Given the description of an element on the screen output the (x, y) to click on. 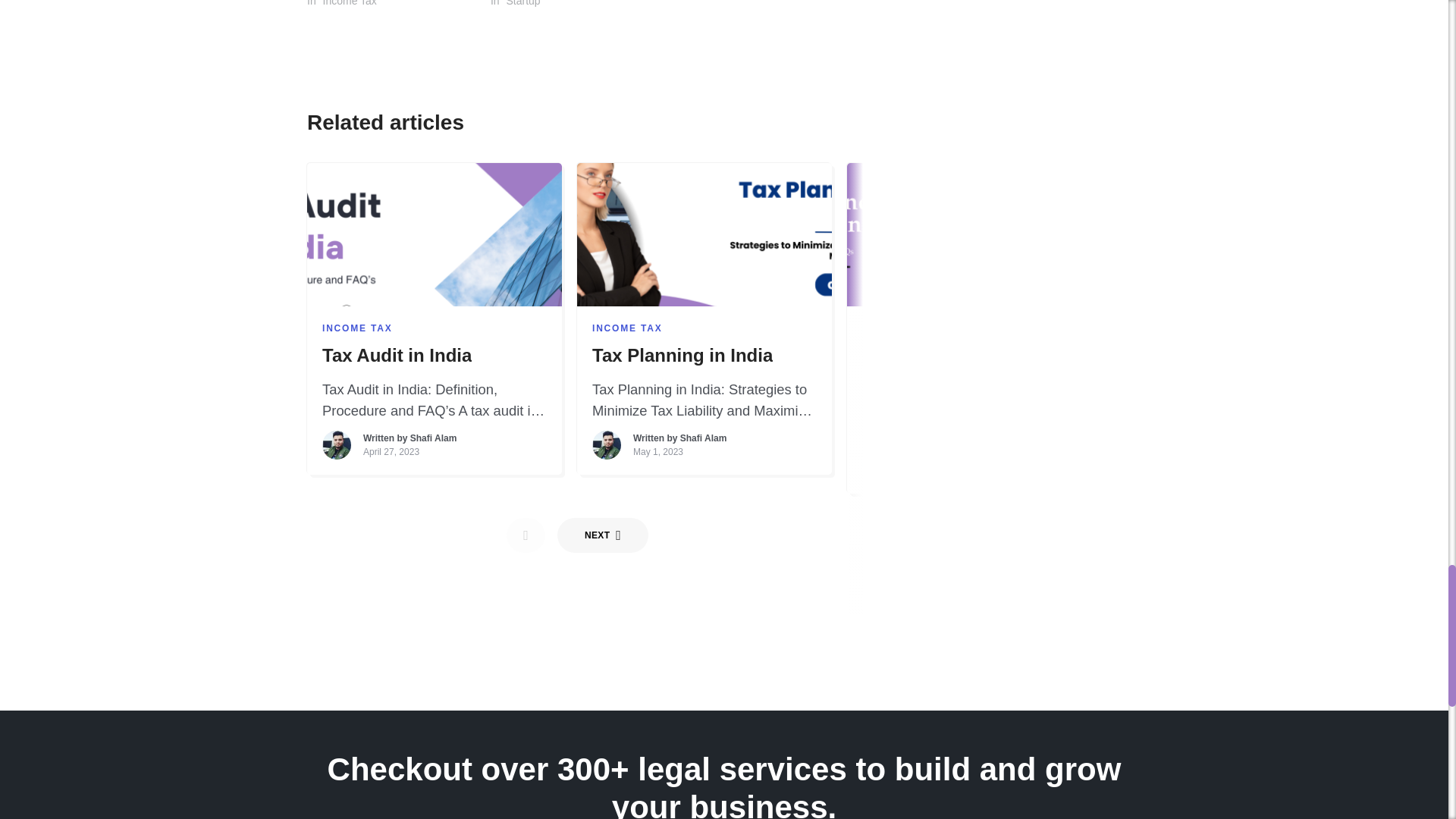
Posts by Shafi Alam (973, 457)
Posts by Shafi Alam (1243, 438)
Posts by Shafi Alam (702, 438)
Posts by Shafi Alam (433, 438)
